Given the description of an element on the screen output the (x, y) to click on. 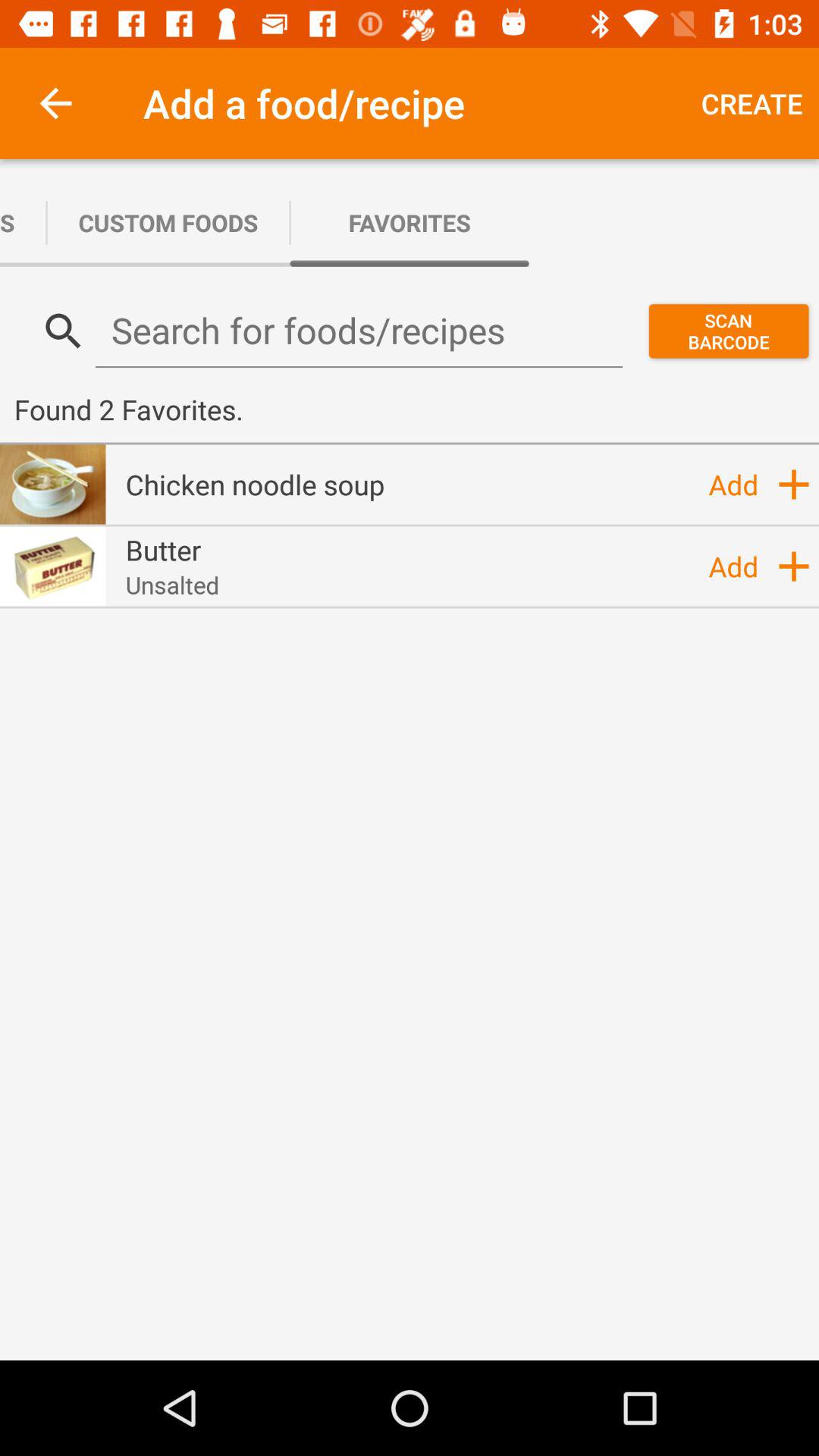
flip to the create item (752, 103)
